Given the description of an element on the screen output the (x, y) to click on. 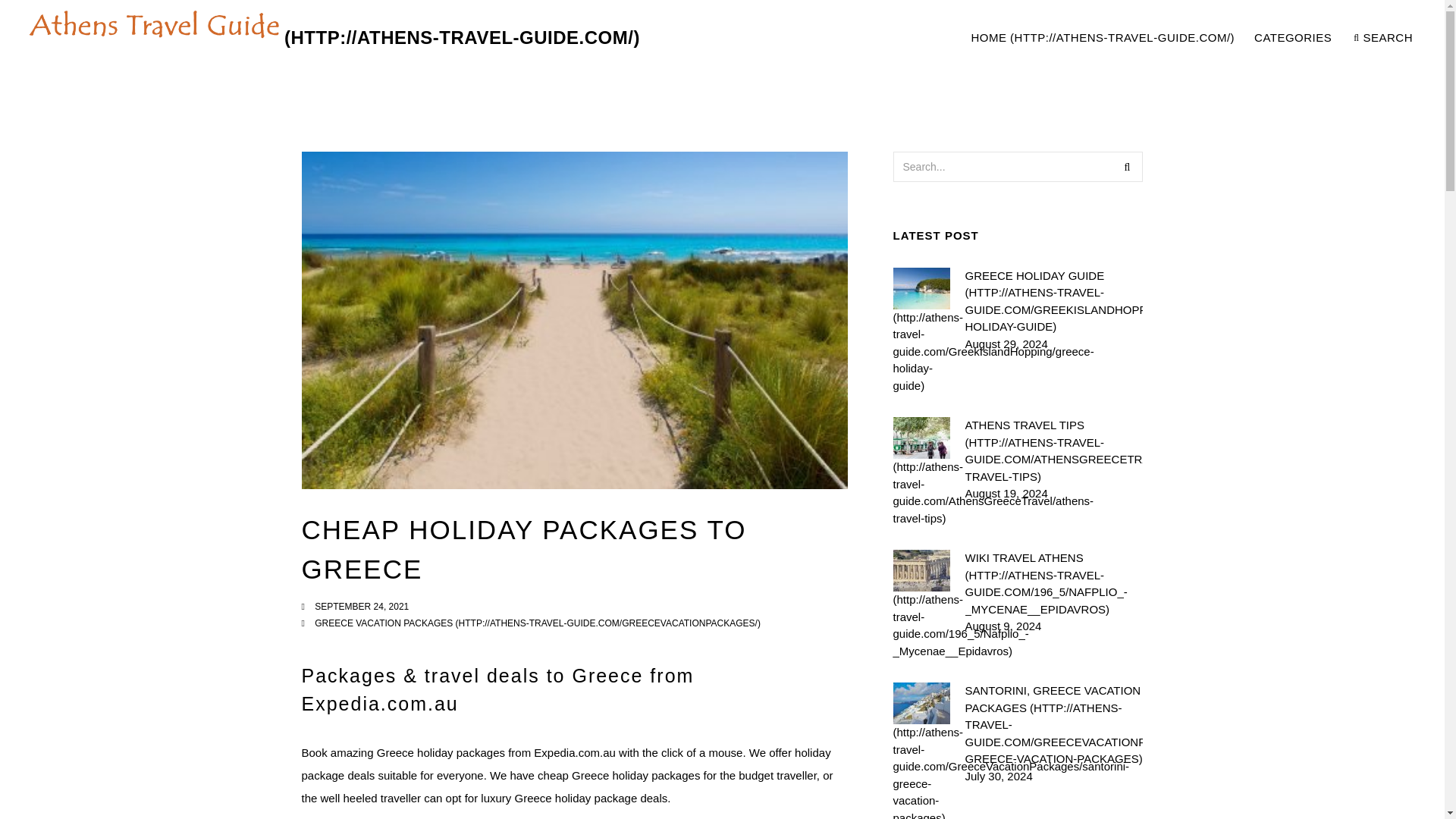
ATHENS TRAVEL TIPS (1052, 450)
WIKI TRAVEL ATHENS (1052, 583)
CATEGORIES (1293, 38)
Athens Travel Guide (1190, 38)
GREECE HOLIDAY GUIDE (331, 38)
HOME (1052, 300)
SEARCH (1101, 38)
GREECE VACATION PACKAGES (1382, 38)
Search (537, 623)
